Given the description of an element on the screen output the (x, y) to click on. 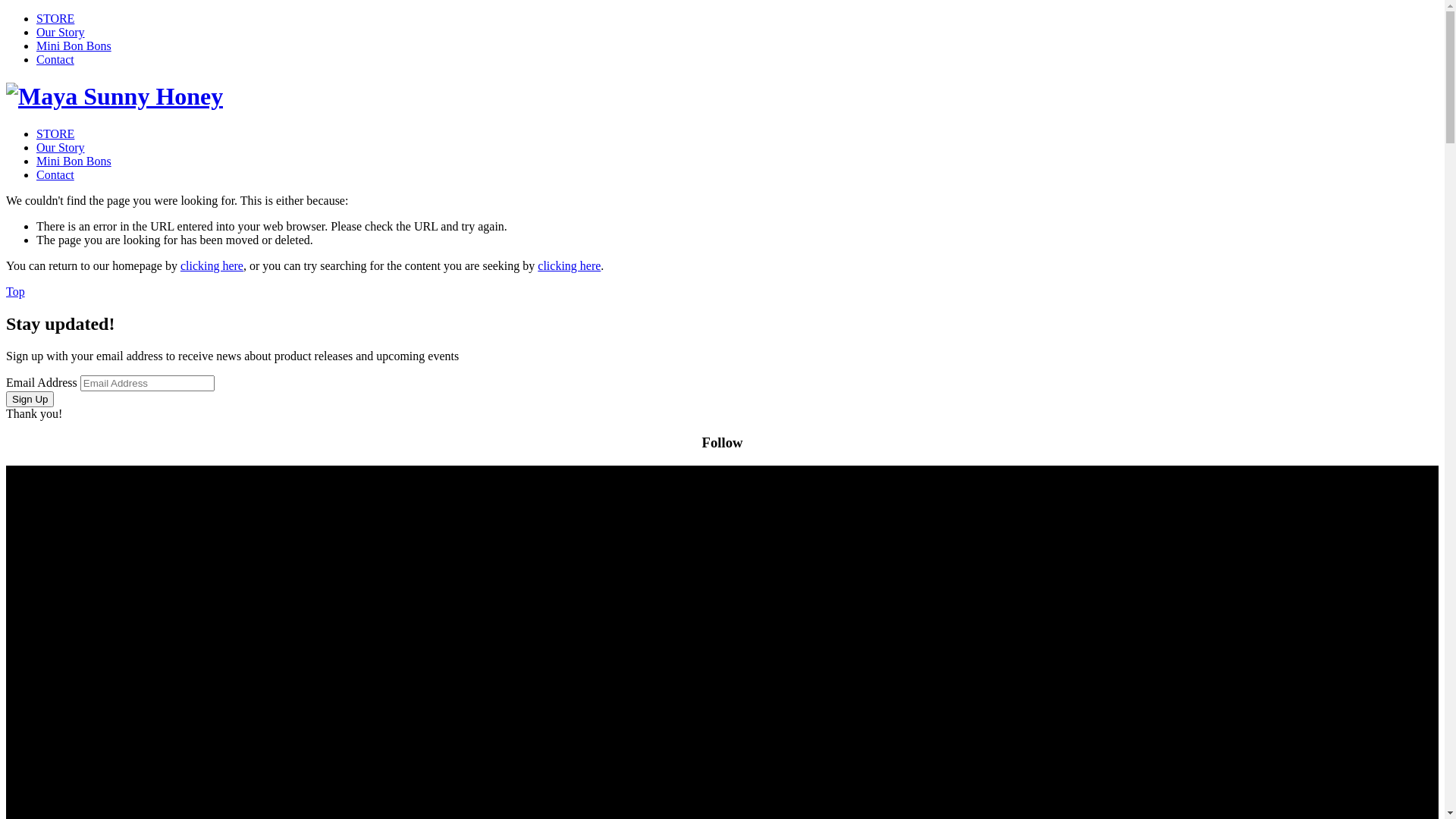
Top Element type: text (15, 291)
Mini Bon Bons Element type: text (73, 160)
clicking here Element type: text (568, 265)
Our Story Element type: text (60, 31)
STORE Element type: text (55, 18)
Mini Bon Bons Element type: text (73, 45)
Contact Element type: text (55, 59)
Contact Element type: text (55, 174)
Our Story Element type: text (60, 147)
clicking here Element type: text (211, 265)
Sign Up Element type: text (29, 399)
STORE Element type: text (55, 133)
